Given the description of an element on the screen output the (x, y) to click on. 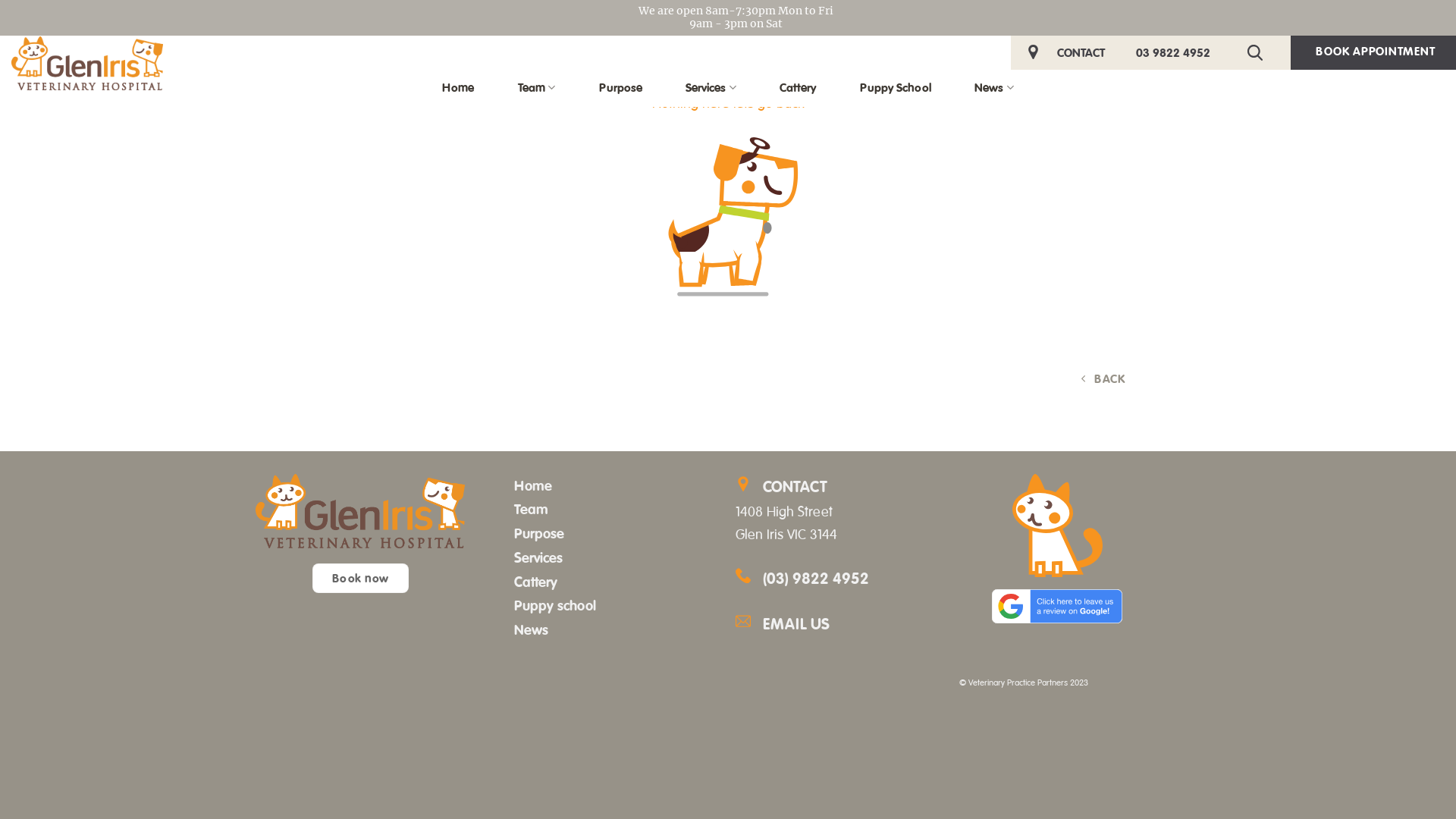
03 9822 4952 Element type: text (1172, 52)
  Element type: text (1258, 52)
Purpose Element type: text (539, 533)
Services Element type: text (710, 87)
CONTACT Element type: text (1080, 52)
Team Element type: text (531, 508)
Cattery Element type: text (535, 581)
Purpose Element type: text (620, 87)
Services Element type: text (538, 557)
Team Element type: text (536, 87)
EMAIL US Element type: text (850, 624)
(03) 9822 4952 Element type: text (815, 578)
Home Element type: text (533, 484)
News Element type: text (993, 87)
Home Element type: text (457, 87)
Puppy school Element type: text (555, 604)
Cattery Element type: text (797, 87)
News Element type: text (531, 629)
Glen Iris Vet Hospital - Your Partner in Pet Care Element type: hover (87, 63)
Puppy School Element type: text (895, 87)
Book now Element type: text (360, 578)
BACK Element type: text (1103, 378)
